Given the description of an element on the screen output the (x, y) to click on. 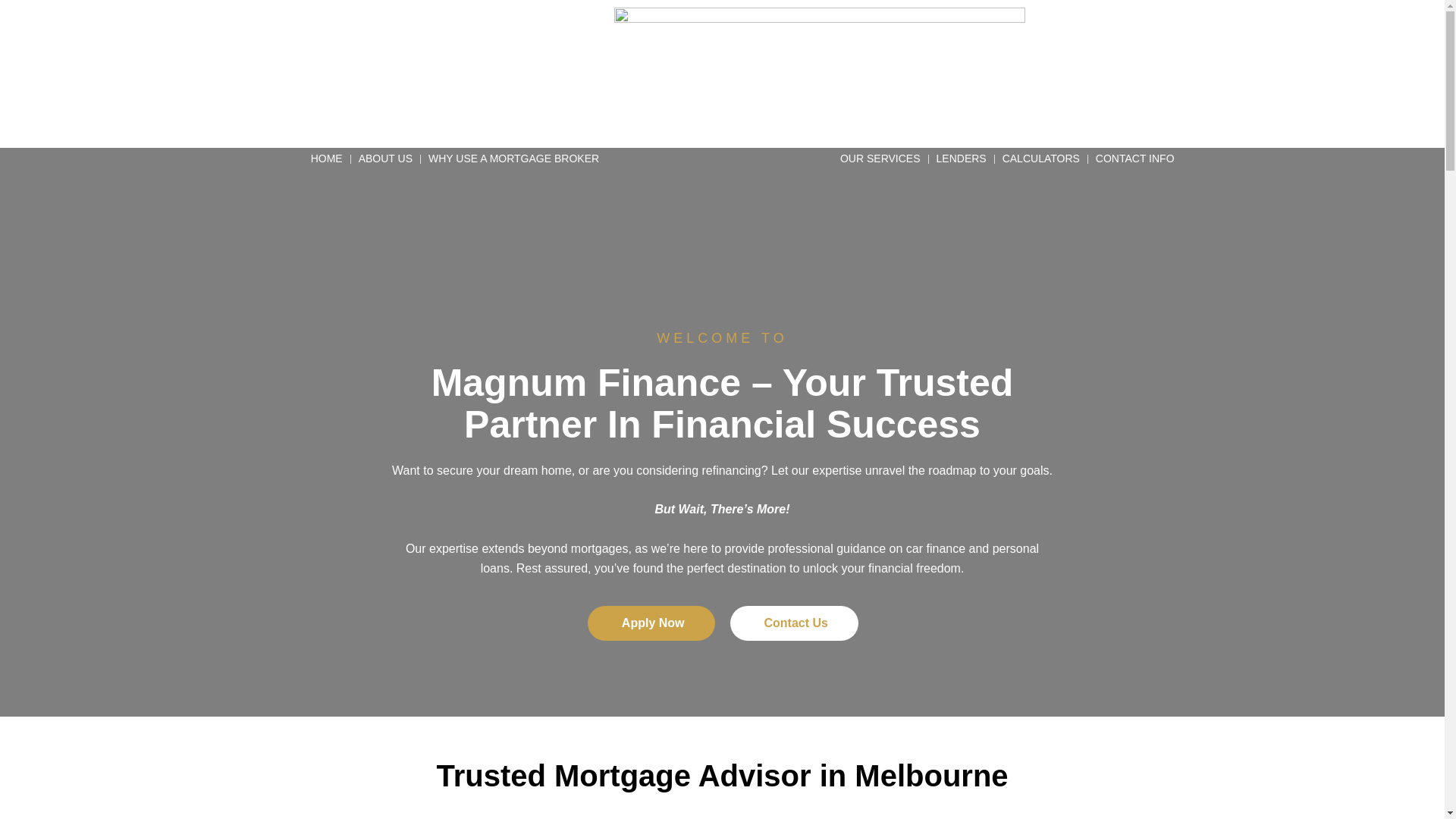
CONTACT INFO Element type: text (1134, 159)
ABOUT US Element type: text (385, 159)
WHY USE A MORTGAGE BROKER Element type: text (513, 159)
CALCULATORS Element type: text (1040, 159)
HOME Element type: text (326, 159)
Contact Us Element type: text (793, 622)
LENDERS Element type: text (961, 159)
OUR SERVICES Element type: text (880, 159)
Apply Now Element type: text (651, 622)
